Given the description of an element on the screen output the (x, y) to click on. 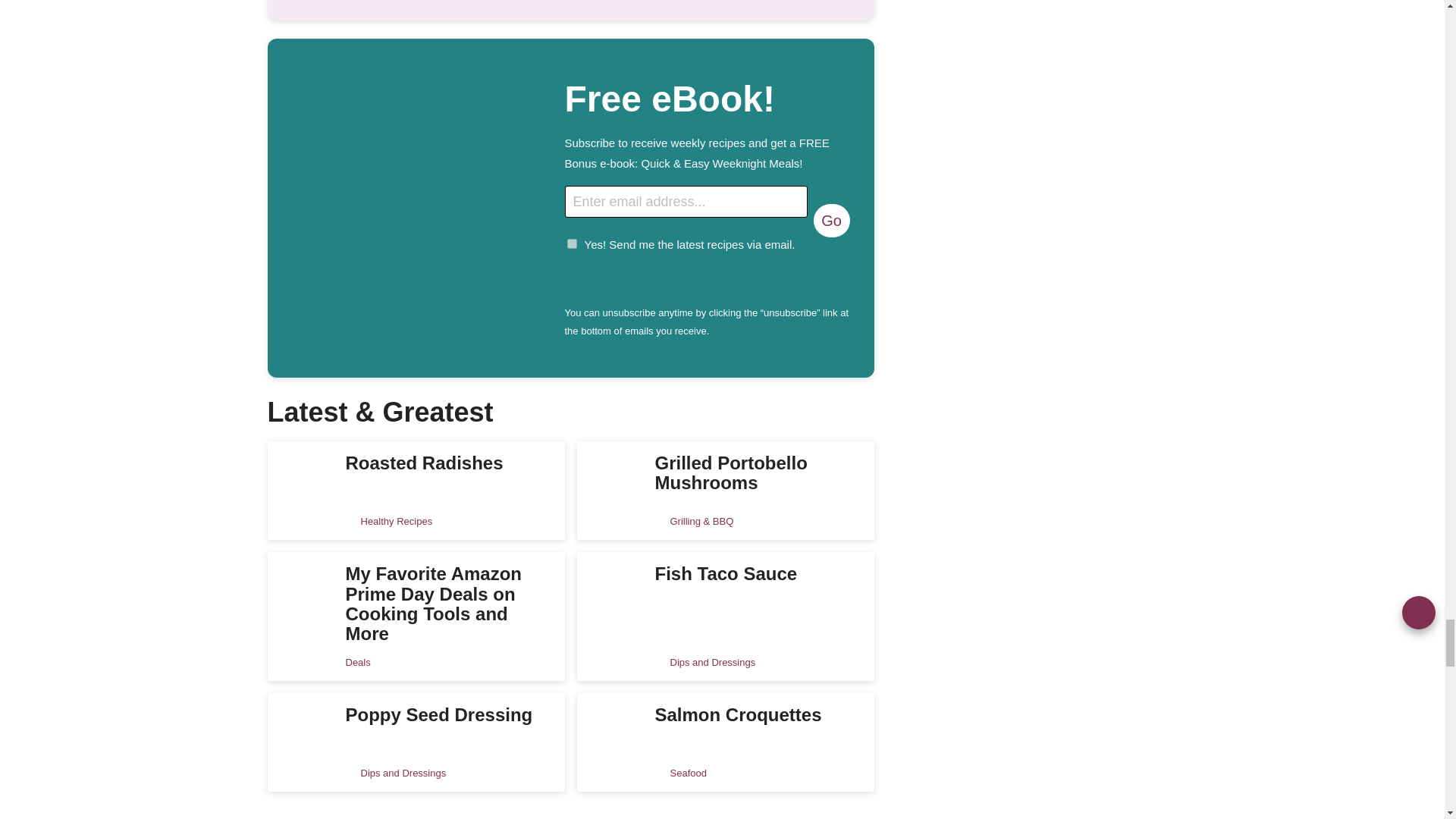
Yes! Send me the latest recipes via email. (571, 243)
